Given the description of an element on the screen output the (x, y) to click on. 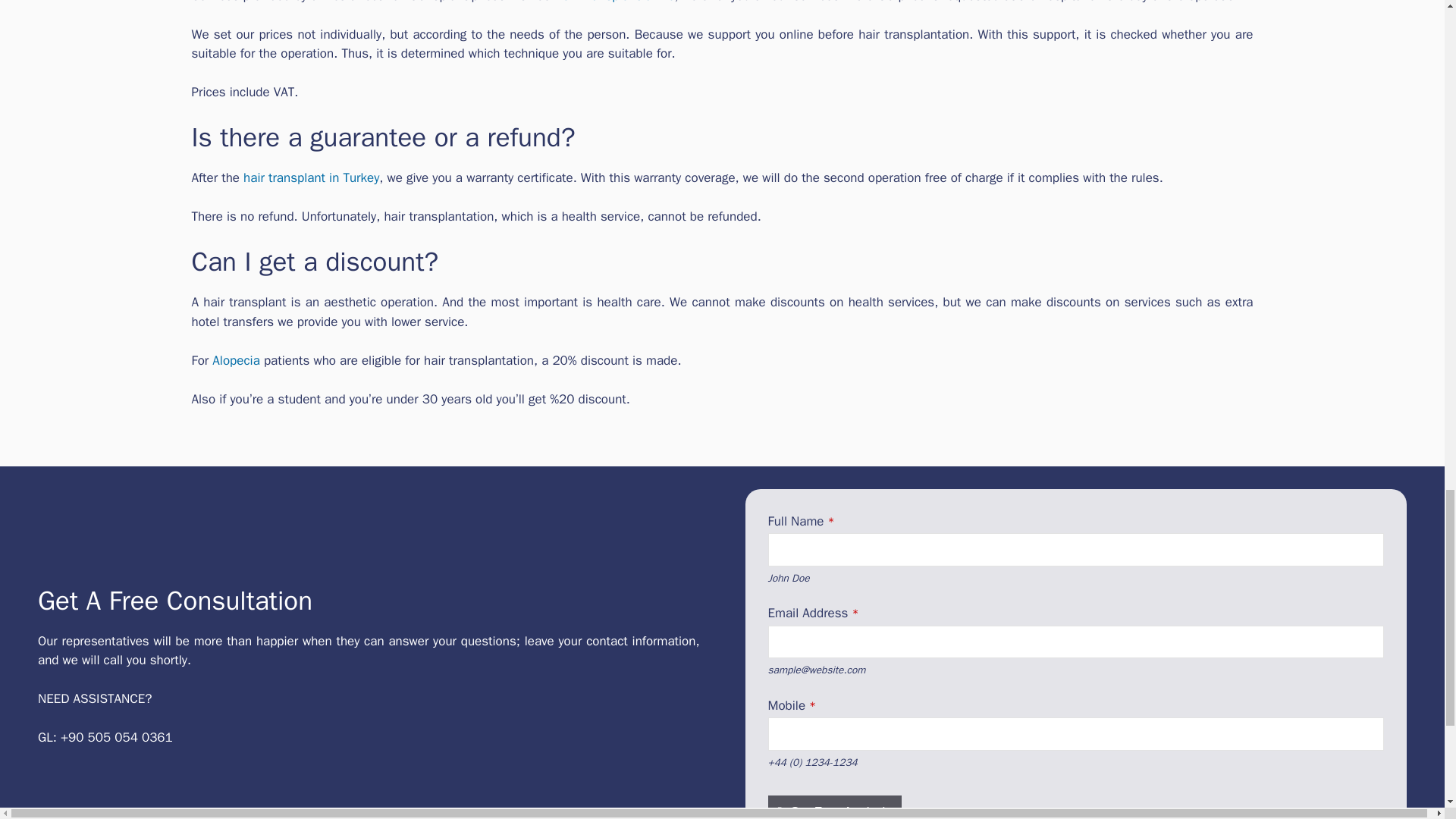
Alopecia (235, 360)
hair transplant in Turkey (310, 177)
Hair Transplant Clinic (614, 2)
Get Free Analysis (834, 807)
